Given the description of an element on the screen output the (x, y) to click on. 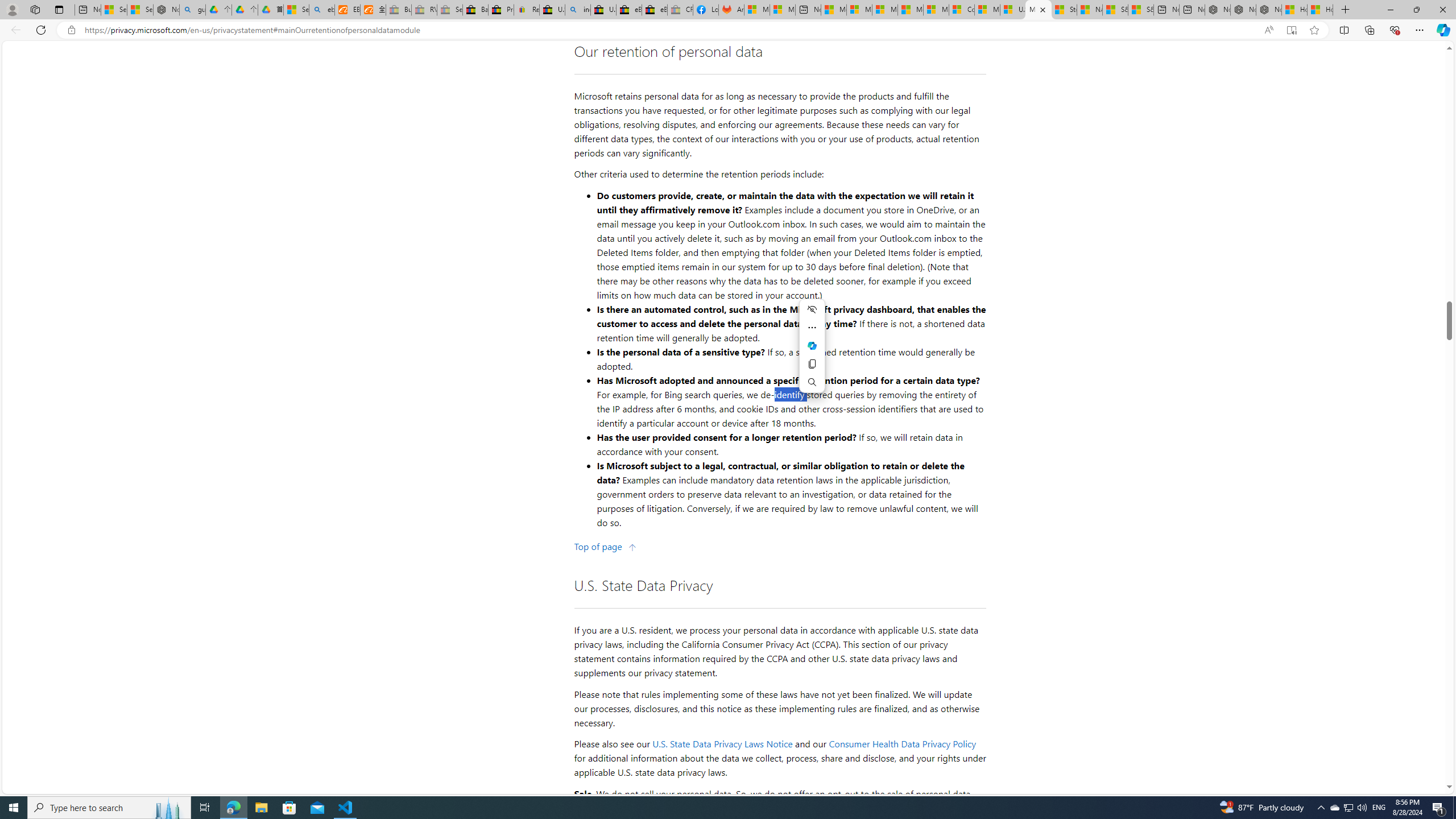
Buy Auto Parts & Accessories | eBay - Sleeping (398, 9)
Copy (811, 363)
Top of page (605, 546)
Microsoft account | Privacy (858, 9)
Sell worldwide with eBay - Sleeping (449, 9)
